Given the description of an element on the screen output the (x, y) to click on. 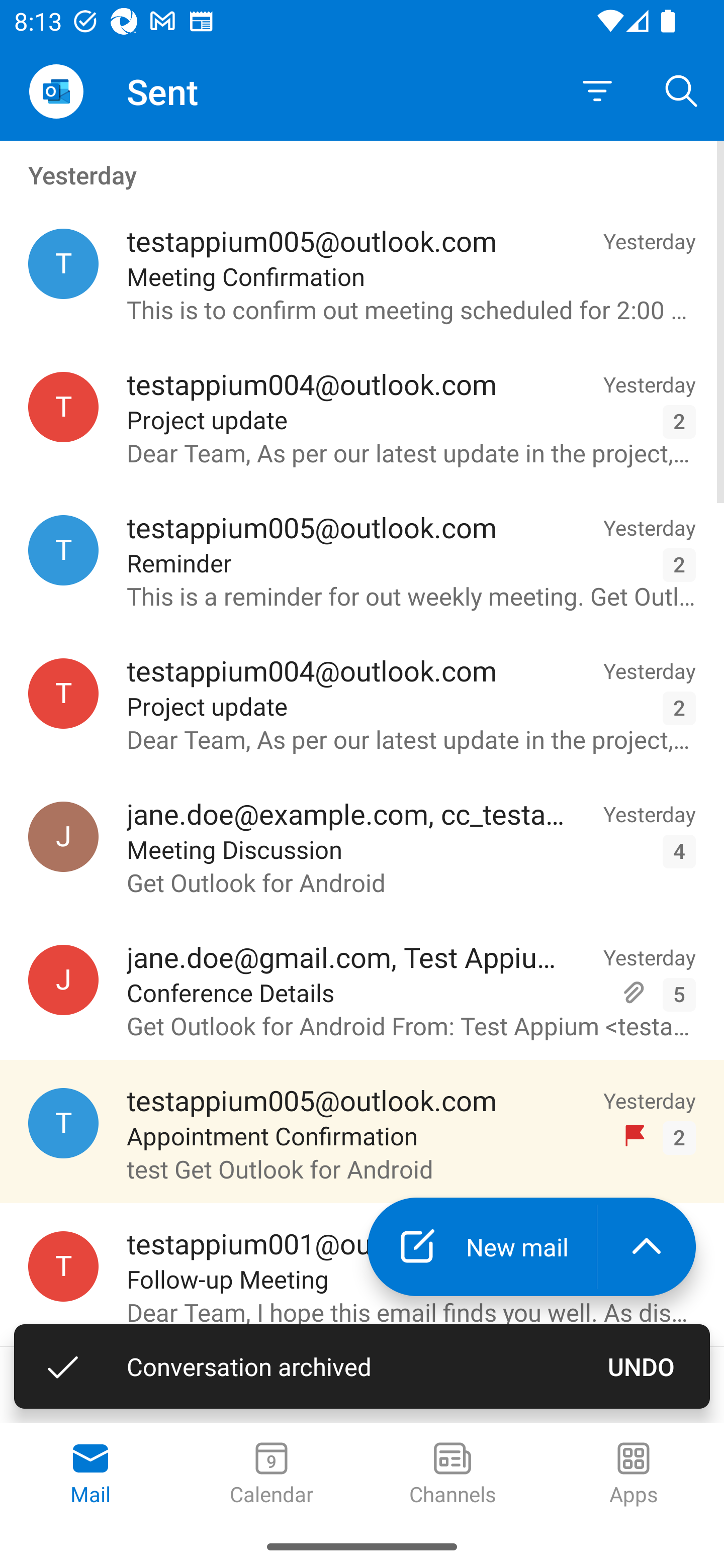
Search, ,  (681, 90)
Open Navigation Drawer (55, 91)
Filter (597, 91)
jane.doe@example.com, jane.doe@example.com (63, 836)
jane.doe@gmail.com, jane.doe@gmail.com (63, 979)
New mail (481, 1246)
launch the extended action menu (646, 1246)
UNDO (641, 1366)
Calendar (271, 1474)
Channels (452, 1474)
Apps (633, 1474)
